Given the description of an element on the screen output the (x, y) to click on. 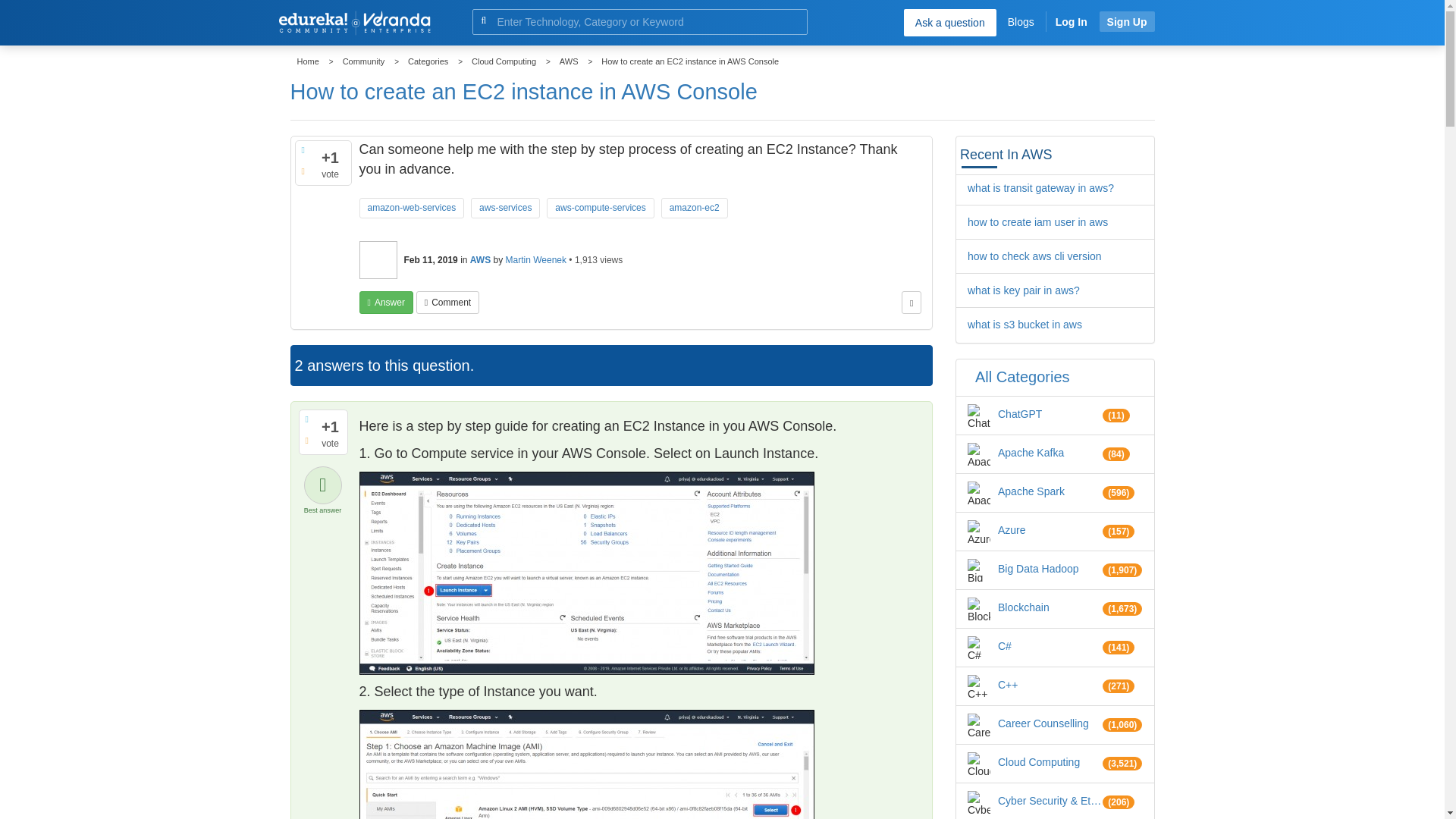
Add a comment on this question (447, 302)
Answer this question (386, 302)
Ask a question (949, 22)
Blogs (1020, 21)
